Given the description of an element on the screen output the (x, y) to click on. 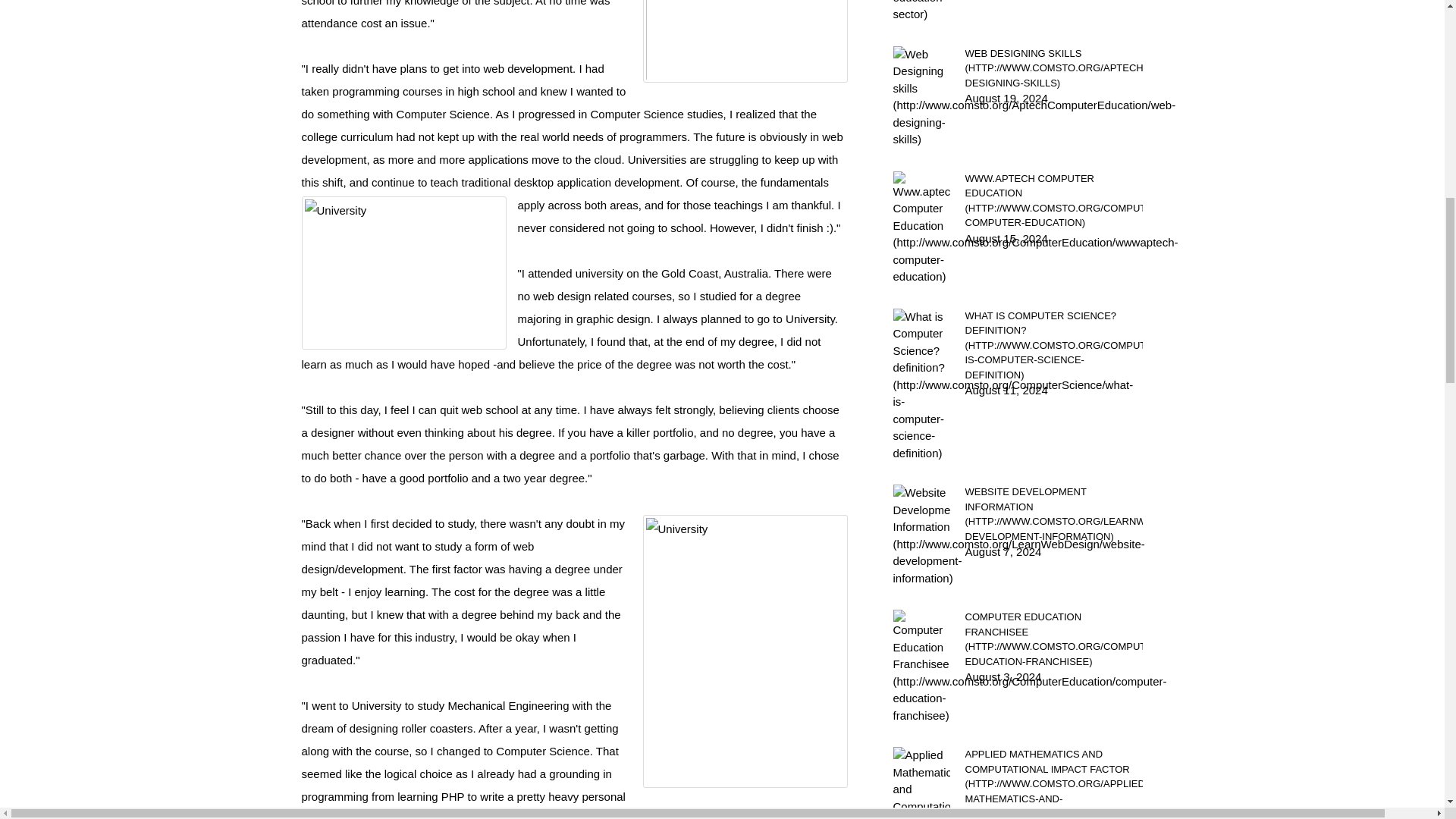
WEB DESIGNING SKILLS (1052, 67)
APPLIED MATHEMATICS AND COMPUTATIONAL IMPACT FACTOR (1052, 782)
COMPUTER EDUCATION FRANCHISEE (1052, 639)
WHAT IS COMPUTER SCIENCE? DEFINITION? (1052, 344)
WEBSITE DEVELOPMENT INFORMATION (1052, 513)
WWW.APTECH COMPUTER EDUCATION (1052, 200)
